Given the description of an element on the screen output the (x, y) to click on. 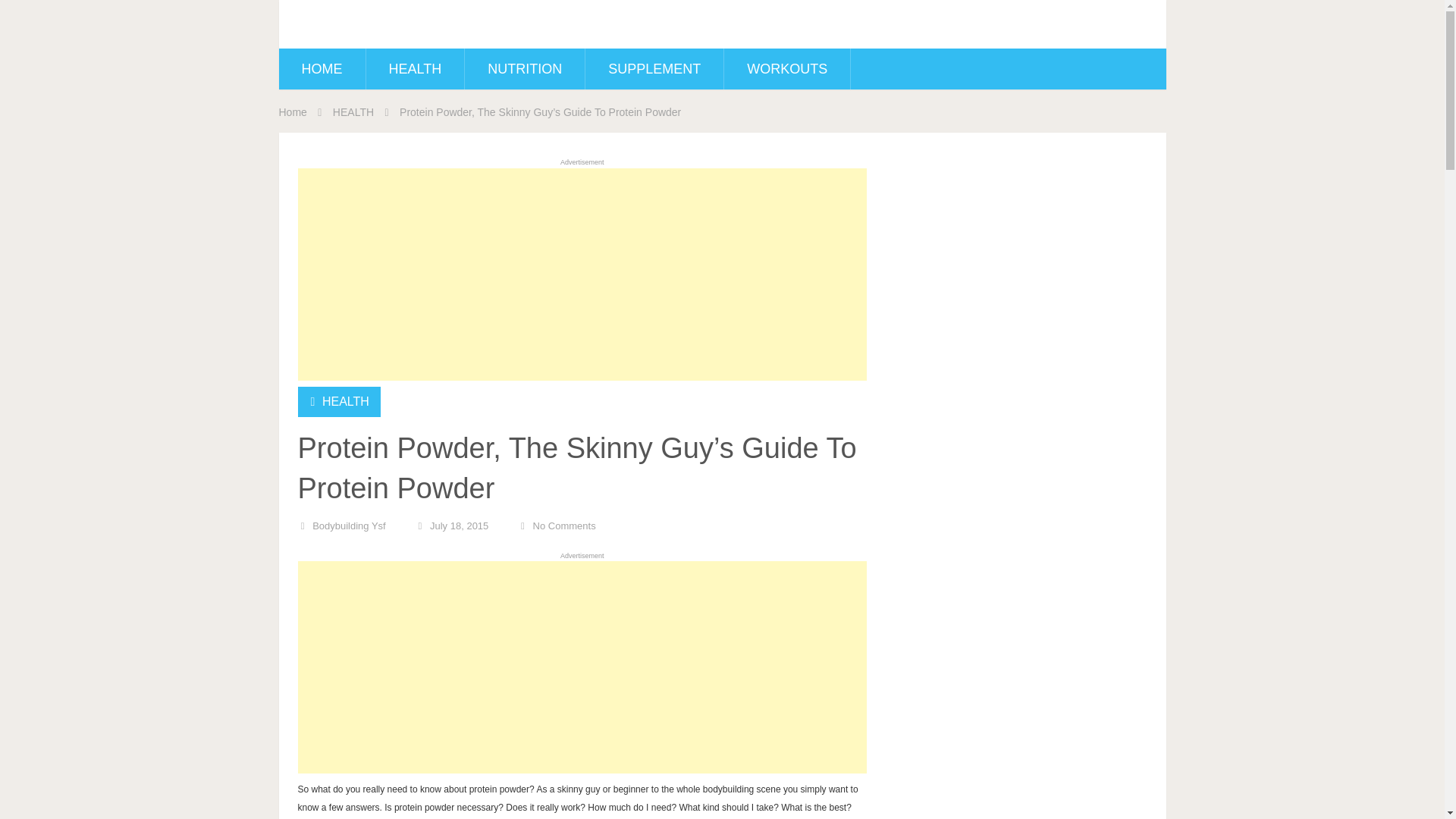
Posts by Bodybuilding Ysf (349, 525)
Advertisement (581, 274)
SUPPLEMENT (654, 68)
WORKOUTS (786, 68)
Home (293, 111)
HEALTH (414, 68)
NUTRITION (524, 68)
No Comments (563, 525)
Bodybuilding Ysf (349, 525)
HEALTH (345, 400)
HEALTH (353, 111)
HOME (322, 68)
Advertisement (581, 667)
